Given the description of an element on the screen output the (x, y) to click on. 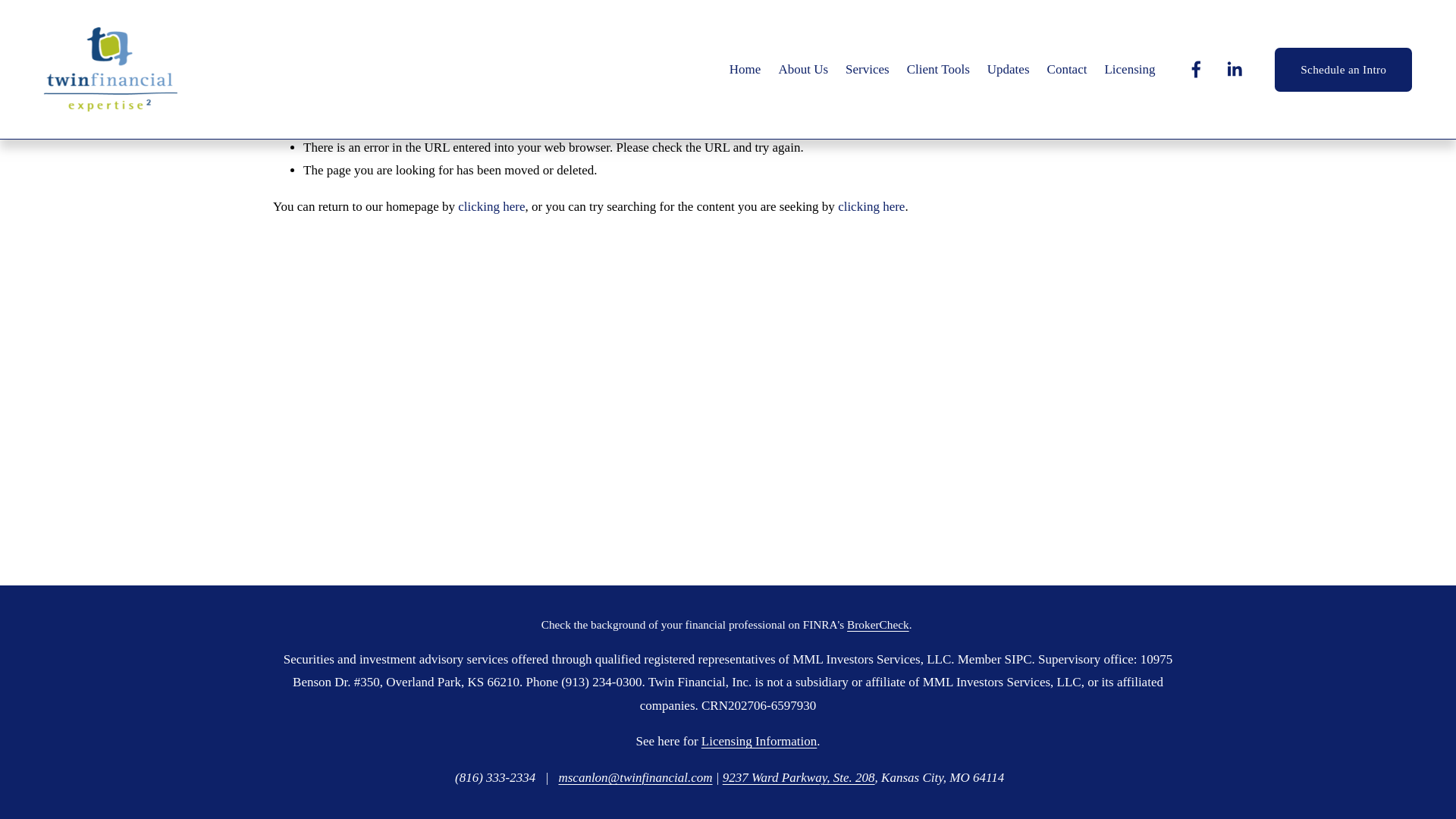
Client Tools (938, 69)
Schedule an Intro (1343, 69)
Home (745, 69)
Updates (1008, 69)
Contact (1066, 69)
Licensing (1128, 69)
About Us (802, 69)
Services (867, 69)
